Given the description of an element on the screen output the (x, y) to click on. 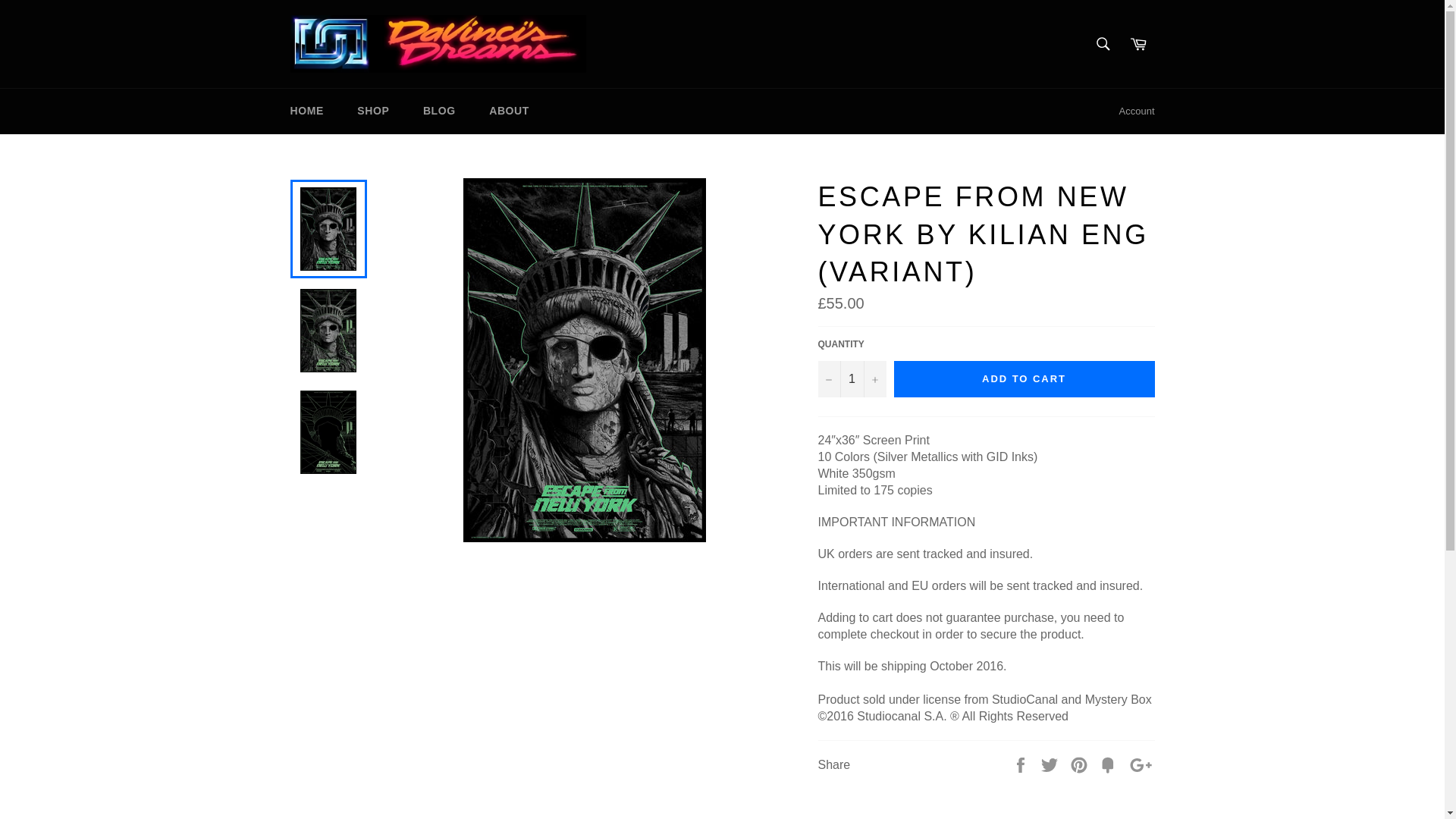
1 (850, 379)
Fancy (1109, 763)
HOME (306, 110)
ADD TO CART (1023, 379)
ABOUT (509, 110)
SHOP (373, 110)
Tweet (1051, 763)
Cart (1138, 43)
Share (1021, 763)
Search (1103, 43)
